Given the description of an element on the screen output the (x, y) to click on. 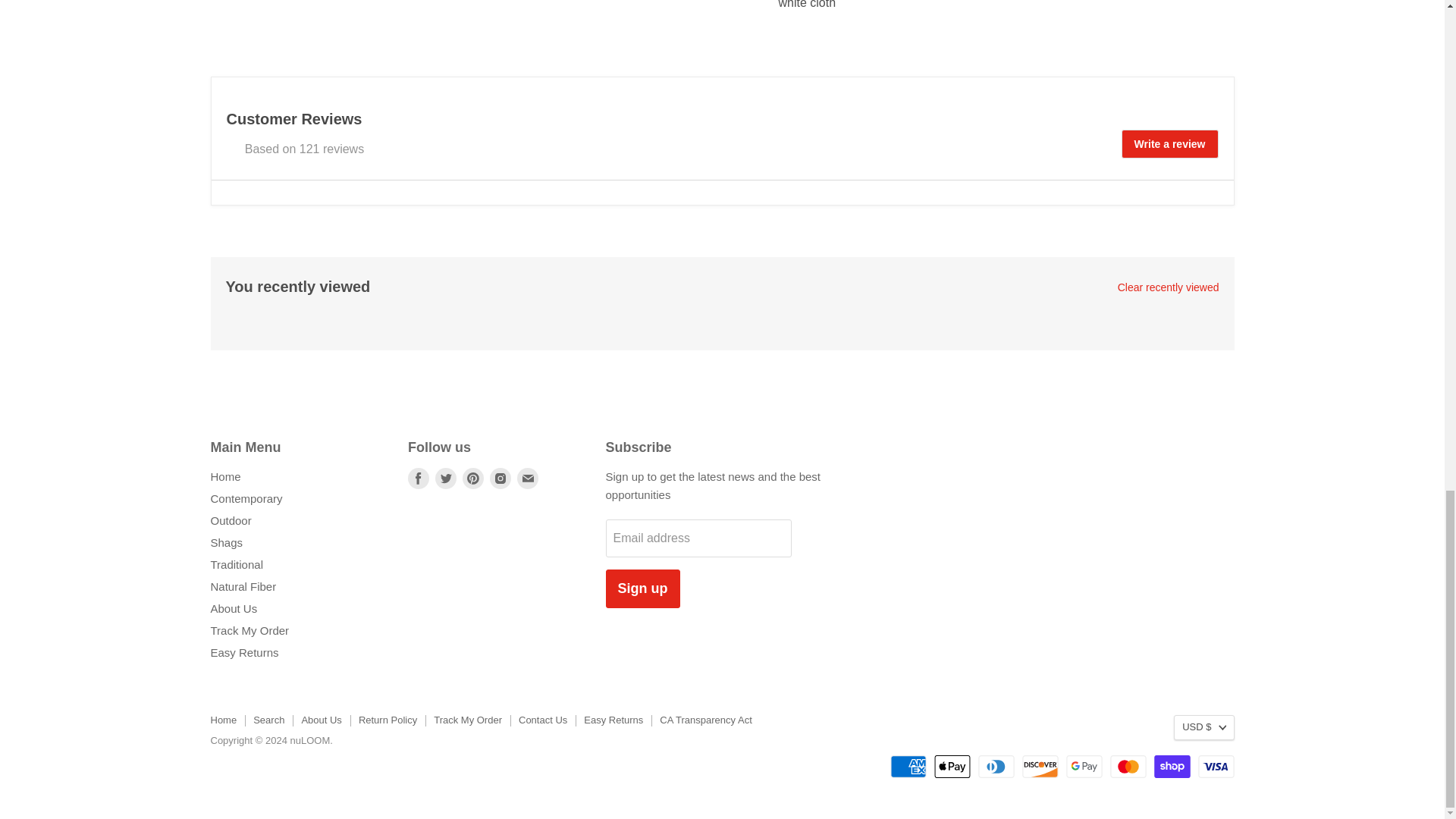
Facebook (418, 477)
American Express (907, 766)
Apple Pay (952, 766)
Twitter (446, 477)
Email (527, 477)
Instagram (500, 477)
Pinterest (473, 477)
